Given the description of an element on the screen output the (x, y) to click on. 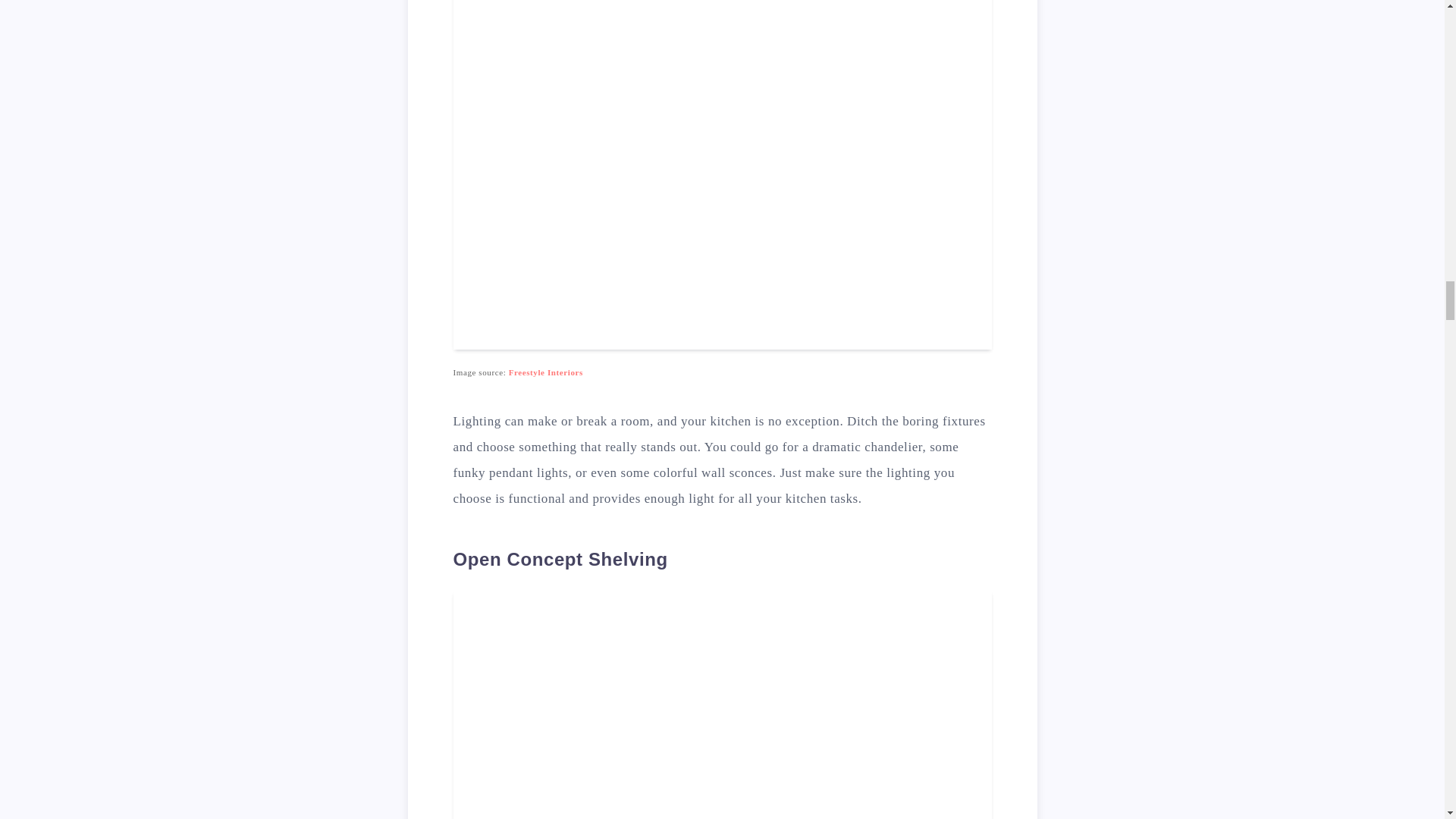
Freestyle Interiors (545, 371)
